Given the description of an element on the screen output the (x, y) to click on. 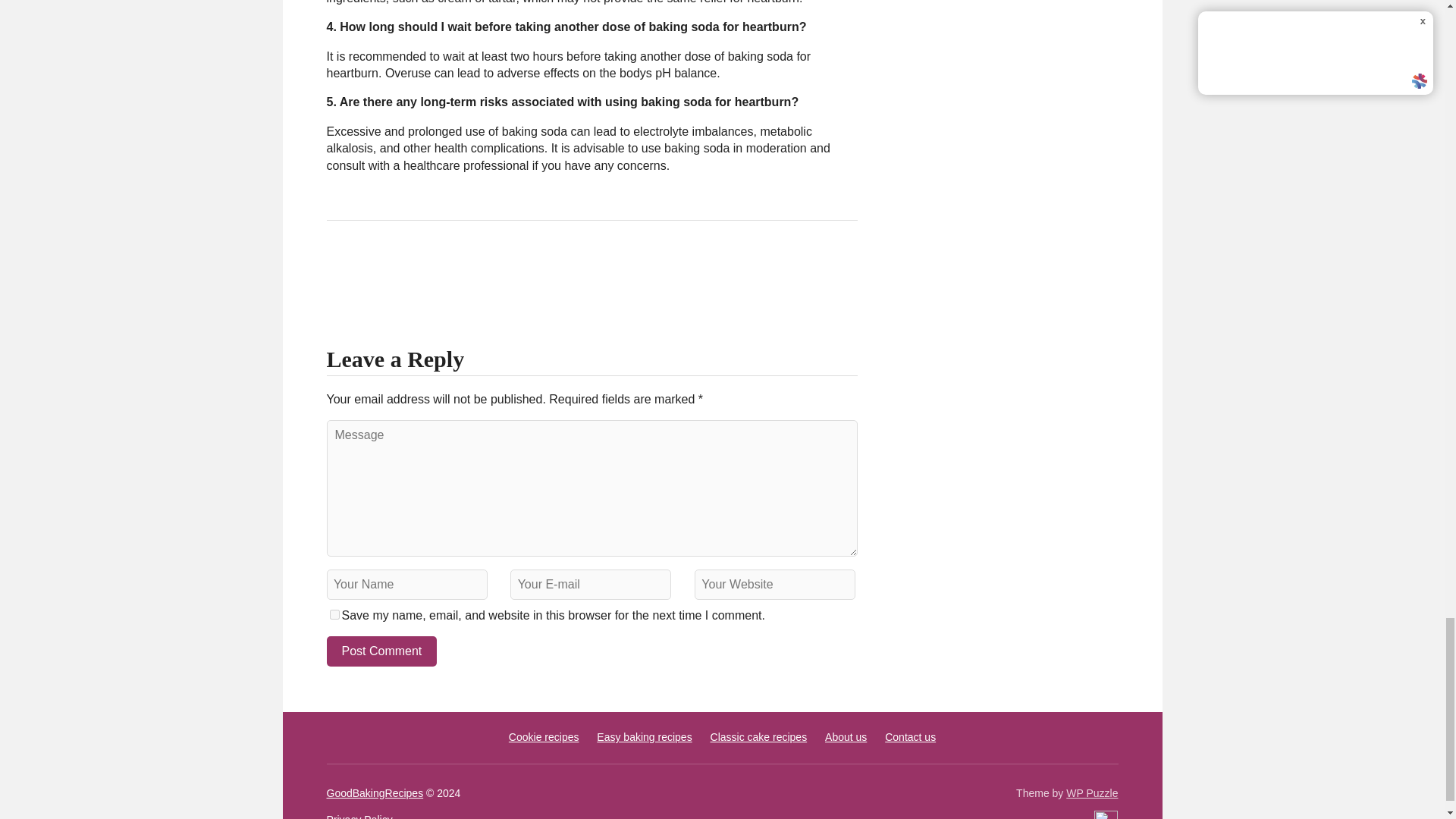
WP Puzzle (1091, 793)
Share in OK (416, 270)
Share in Facebook (341, 270)
Share in VK (379, 270)
Classic cake recipes (759, 736)
Post Comment (381, 651)
About us (845, 736)
yes (334, 614)
Cookie recipes (543, 736)
GoodBakingRecipes (374, 793)
Post Comment (381, 651)
Contact us (910, 736)
Easy baking recipes (643, 736)
Share in Twitter (492, 270)
